Given the description of an element on the screen output the (x, y) to click on. 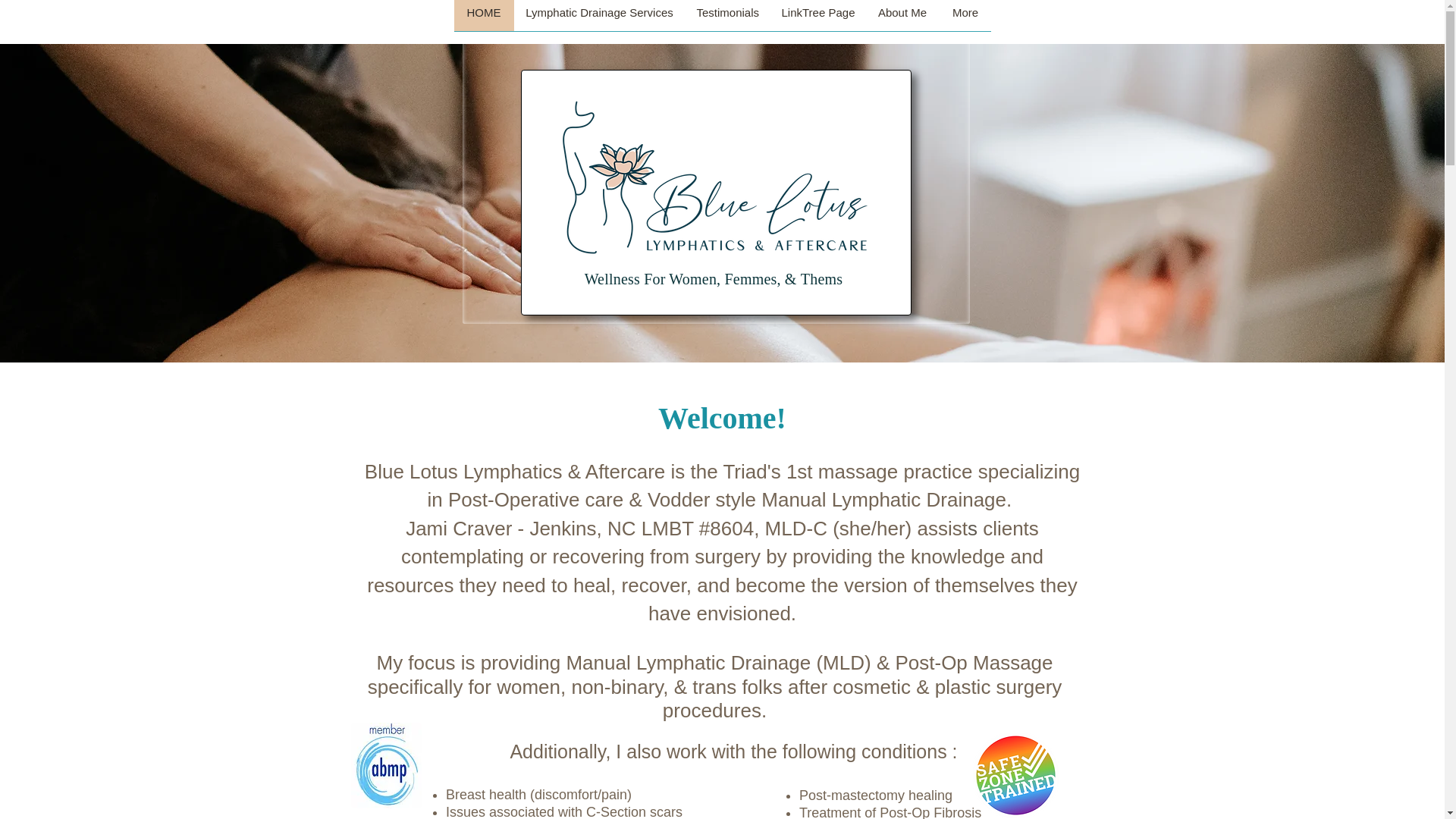
Testimonials (727, 15)
HOME (482, 15)
LinkTree Page (817, 15)
Lymphatic Drainage Services (599, 15)
